Given the description of an element on the screen output the (x, y) to click on. 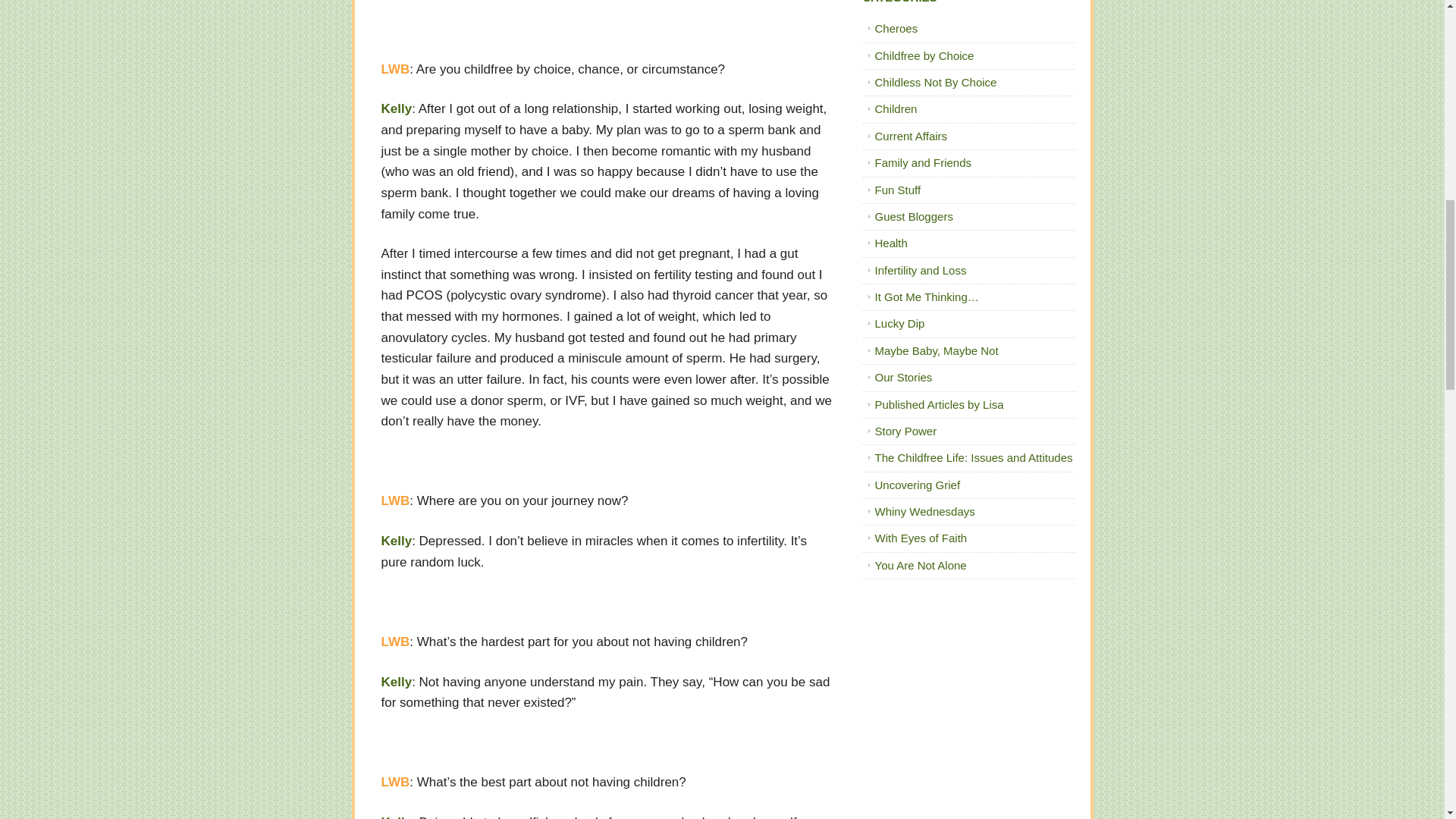
Lucky Dip (899, 323)
Health (891, 242)
Family and Friends (923, 162)
Childfree by Choice (924, 55)
Maybe Baby, Maybe Not (936, 350)
Children (896, 108)
Our Stories (904, 377)
Story Power (906, 431)
Fun Stuff (898, 189)
Infertility and Loss (920, 269)
